Given the description of an element on the screen output the (x, y) to click on. 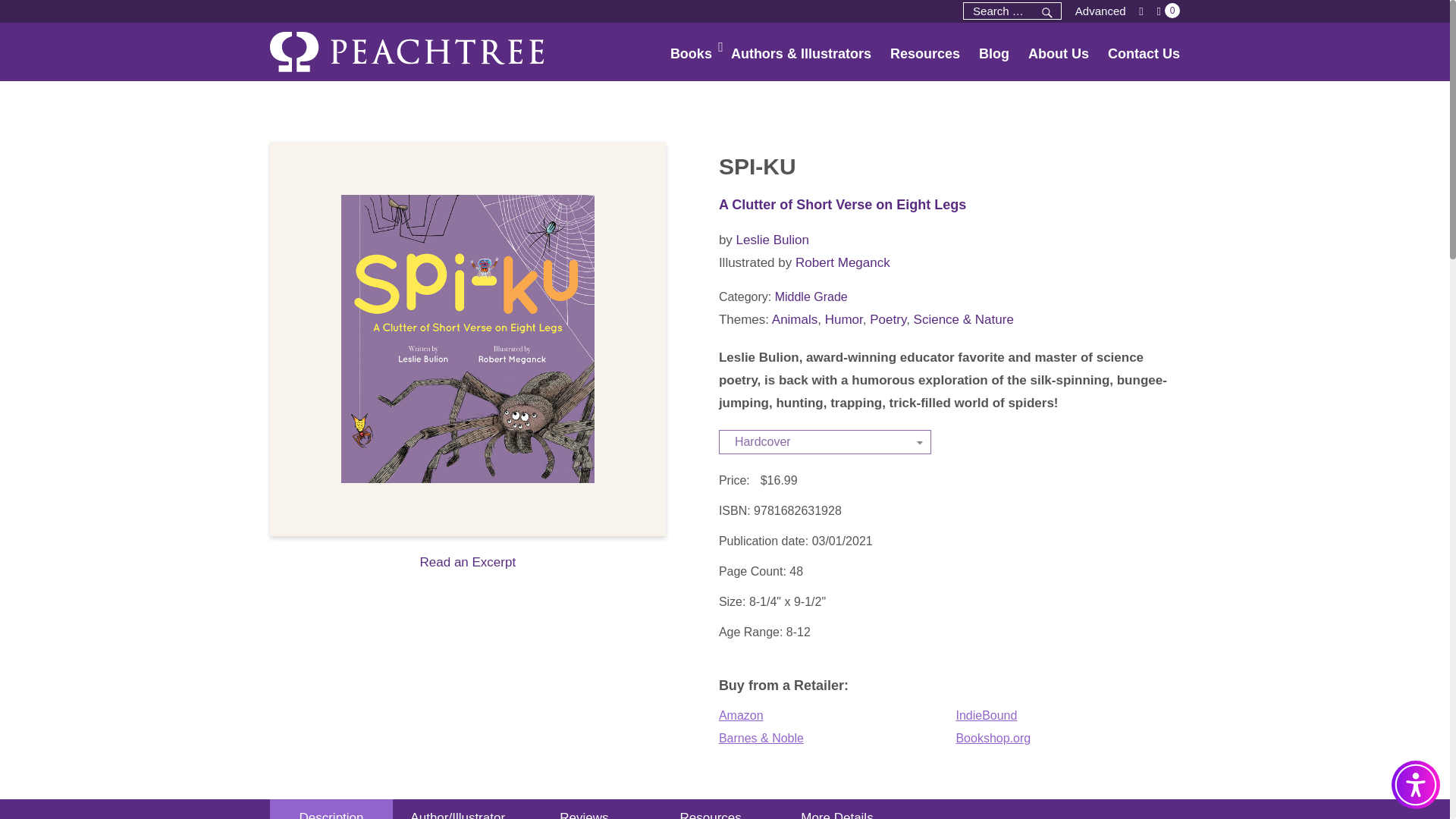
Search (1045, 11)
0 (1168, 10)
Accessibility Menu (1415, 784)
Books (680, 54)
Spi-ku 1 (467, 338)
Advanced (1100, 10)
